Given the description of an element on the screen output the (x, y) to click on. 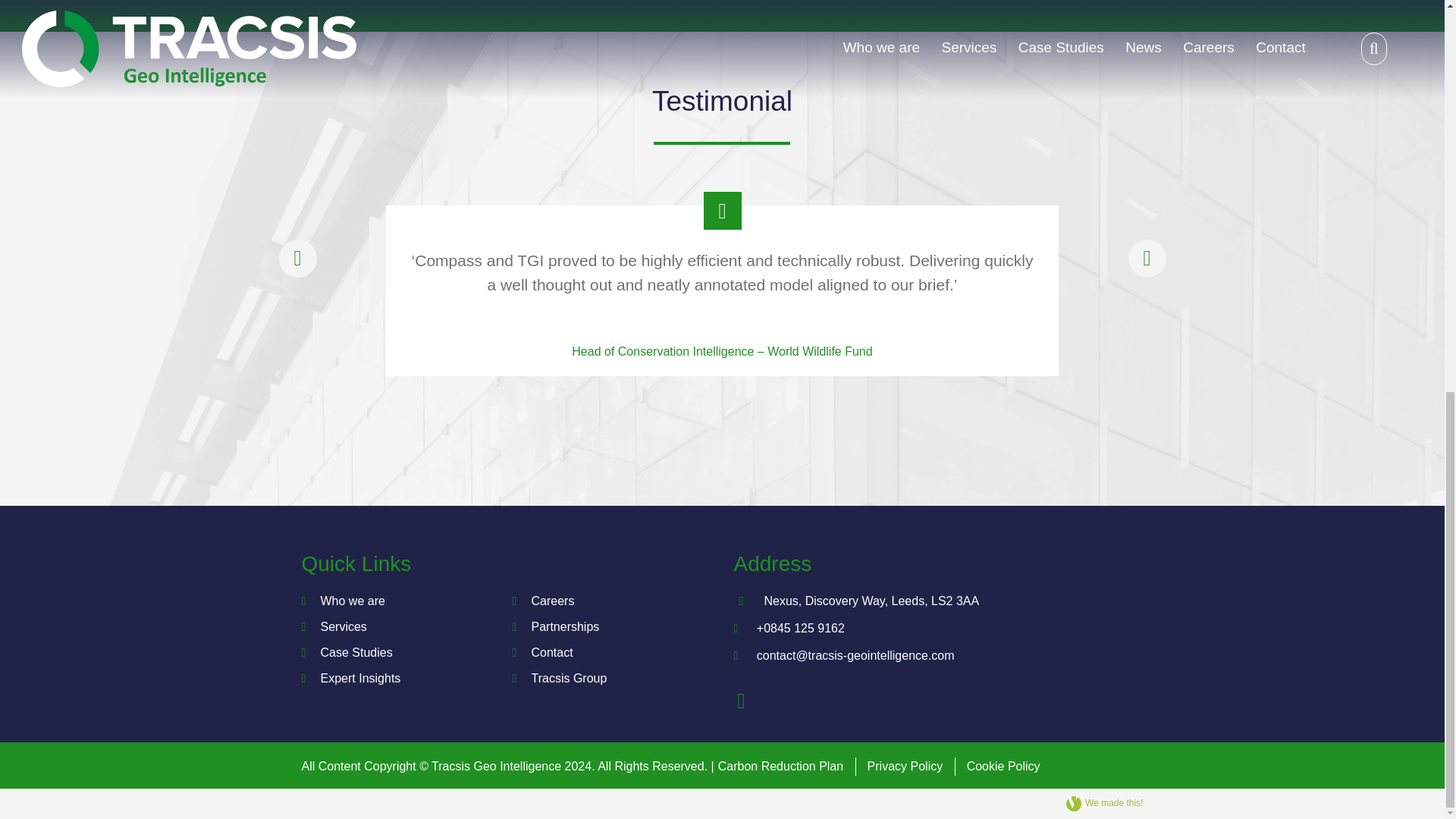
Tracsis Group (569, 677)
Who we are (352, 600)
Link to call Tracsis Geo Intelligence (937, 628)
Privacy Policy (911, 766)
Contact (551, 652)
Services (343, 626)
Link to email Tracsis Geo Intelligence (937, 655)
We made this! (1045, 803)
Link to Tracsis Geo Intelligence LinkedIn page (741, 701)
Careers (552, 600)
Expert Insights (360, 677)
Partnerships (564, 626)
Carbon Reduction Plan (786, 766)
Case Studies (355, 652)
Cookie Policy (1003, 766)
